Given the description of an element on the screen output the (x, y) to click on. 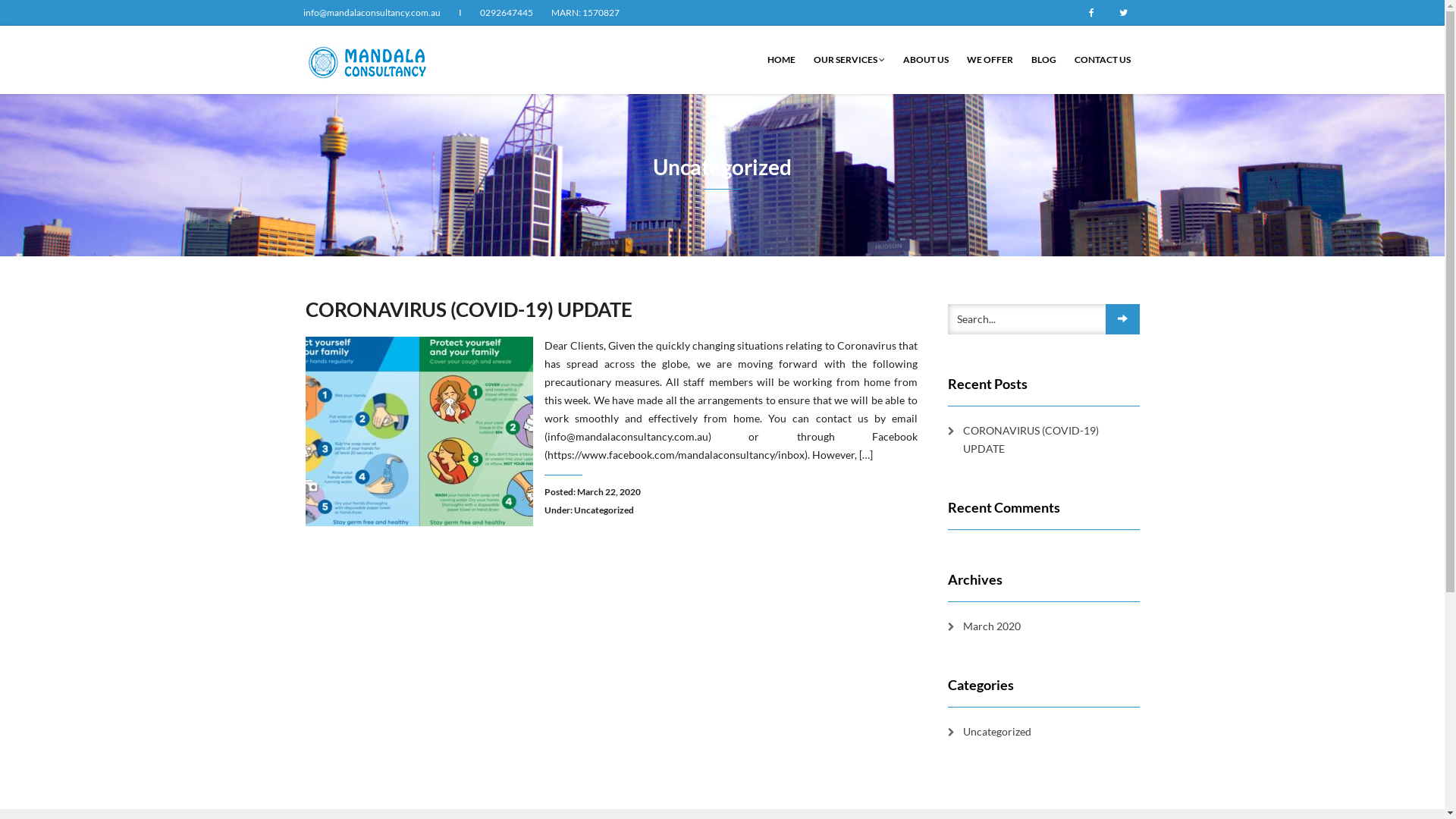
I Element type: text (459, 12)
HOME Element type: text (781, 59)
BLOG Element type: text (1043, 59)
CORONAVIRUS (COVID-19) UPDATE Element type: text (467, 309)
Uncategorized Element type: text (603, 509)
March 2020 Element type: text (983, 626)
WE OFFER Element type: text (989, 59)
Search for: Element type: hover (1043, 319)
0292647445 Element type: text (505, 12)
Twitter Element type: text (1123, 12)
CORONAVIRUS (COVID-19) UPDATE Element type: text (1043, 439)
OUR SERVICES Element type: text (848, 59)
MARN: 1570827 Element type: text (584, 12)
Uncategorized Element type: text (989, 731)
info@mandalaconsultancy.com.au Element type: text (371, 12)
ABOUT US Element type: text (925, 59)
Facebook Element type: text (1091, 12)
CONTACT US Element type: text (1101, 59)
